Given the description of an element on the screen output the (x, y) to click on. 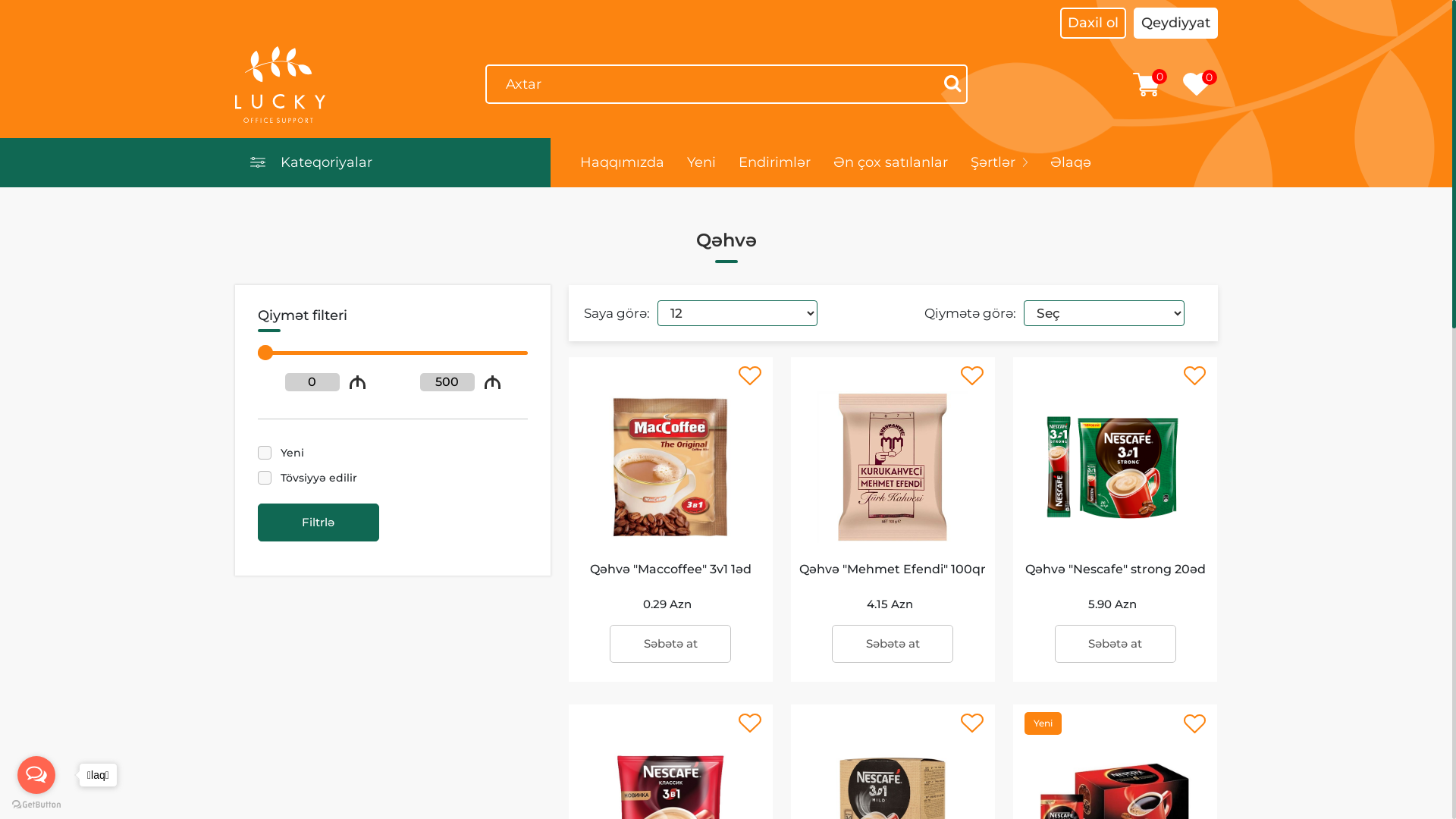
Daxil ol Element type: text (1093, 22)
Qeydiyyat Element type: text (1174, 22)
Yeni Element type: text (701, 162)
